Given the description of an element on the screen output the (x, y) to click on. 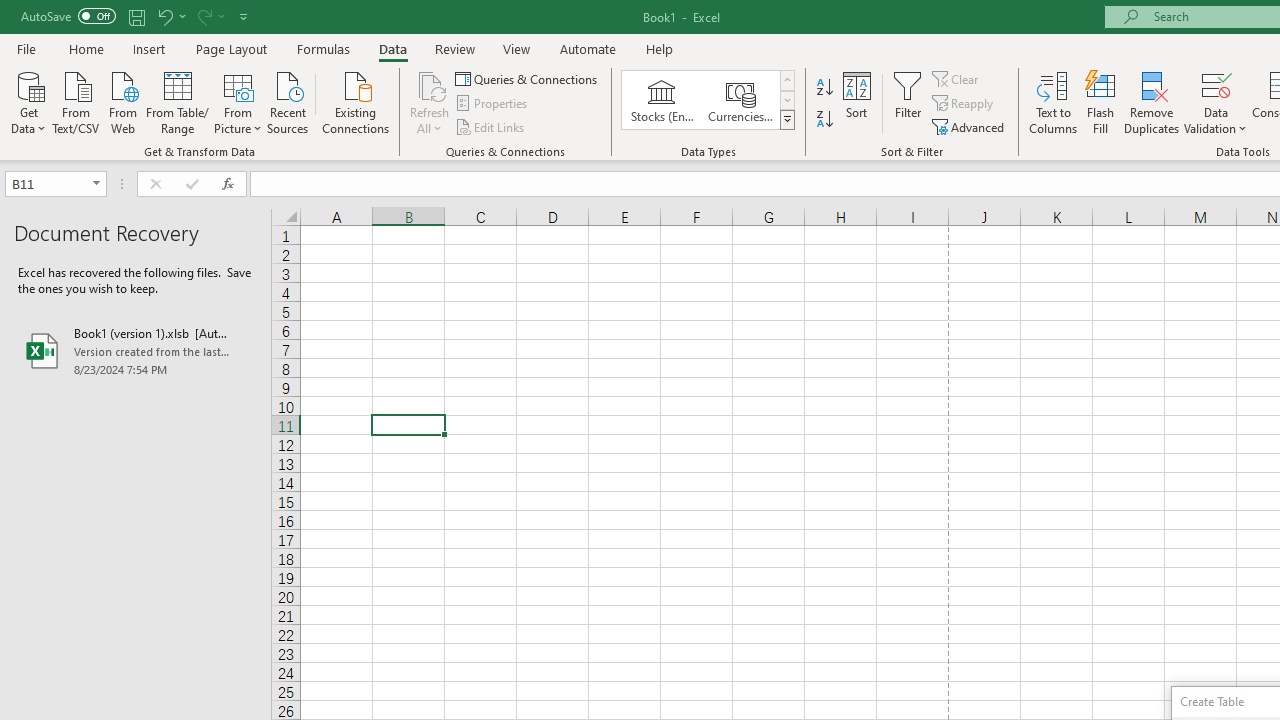
Recent Sources (287, 101)
Get Data (28, 101)
Advanced... (970, 126)
From Table/Range (177, 101)
Text to Columns... (1053, 102)
From Text/CSV (75, 101)
Stocks (English) (662, 100)
